Given the description of an element on the screen output the (x, y) to click on. 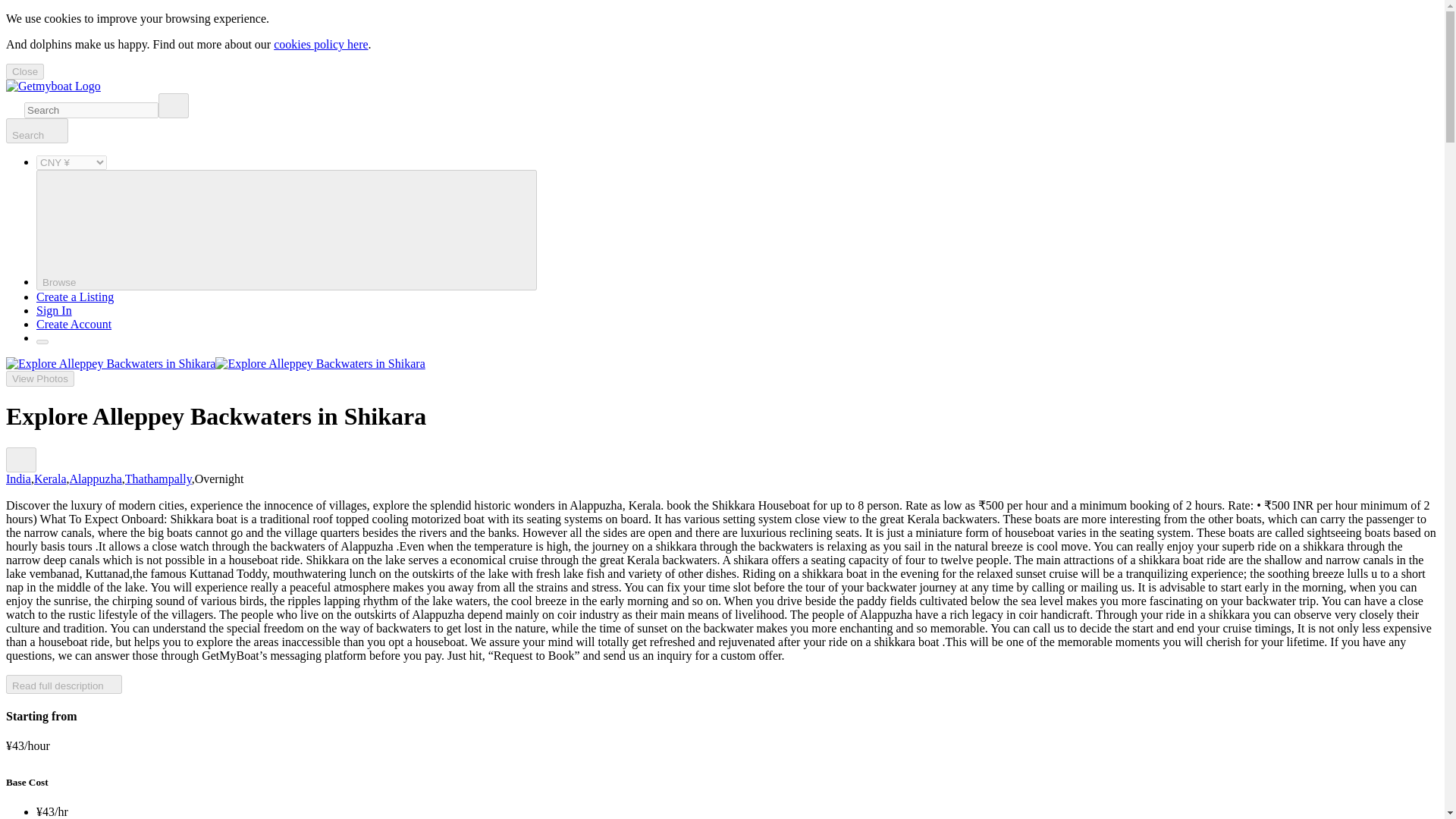
Read full description (63, 683)
Sign In (53, 309)
Close (24, 71)
Search (36, 130)
Alappuzha (95, 478)
Create a Listing (74, 296)
Browse (286, 229)
Clear (173, 105)
View Photos (39, 378)
India (17, 478)
Kerala (49, 478)
Thathampally (158, 478)
cookies policy here (320, 43)
Create Account (74, 323)
